Given the description of an element on the screen output the (x, y) to click on. 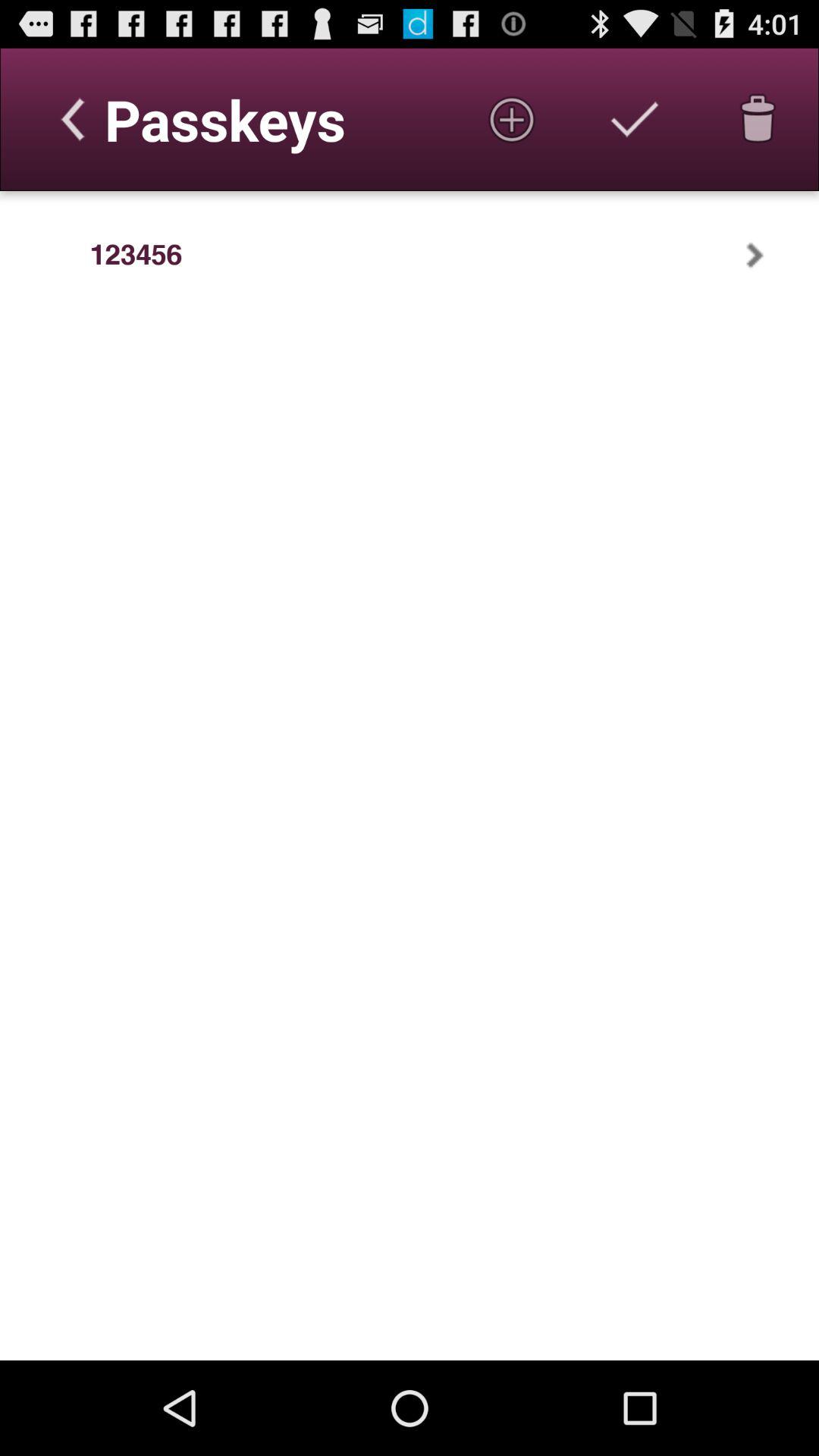
add new passkey (511, 119)
